Given the description of an element on the screen output the (x, y) to click on. 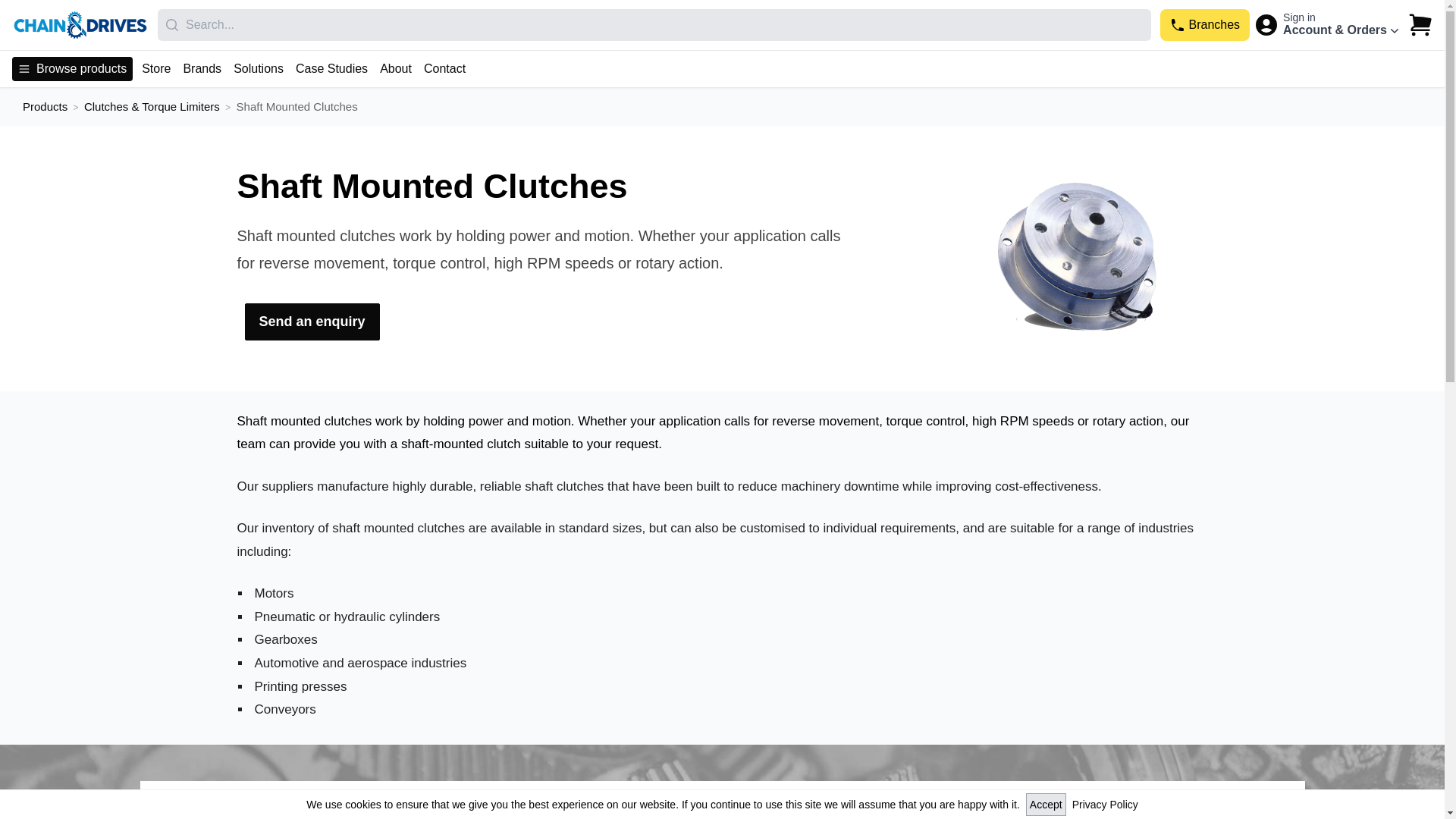
Contact (444, 68)
Products (44, 106)
Branches (1204, 24)
Solutions (257, 68)
Brands (202, 68)
Send an enquiry (311, 321)
About (396, 68)
Privacy Policy (1104, 804)
Accept (1045, 804)
Store (155, 68)
Sign in (1299, 17)
Case Studies (331, 68)
Browse products (71, 68)
